Given the description of an element on the screen output the (x, y) to click on. 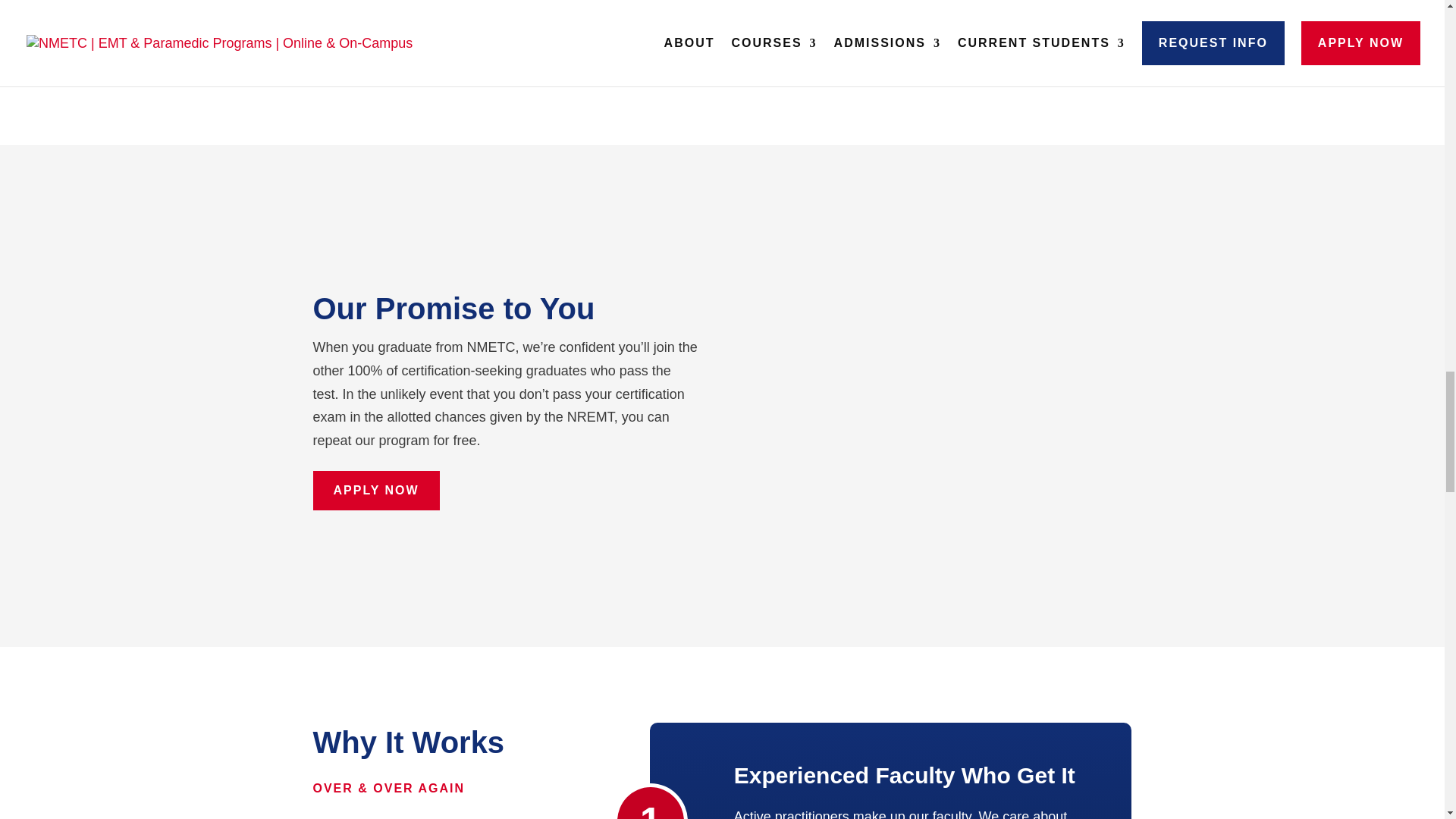
APPLY NOW (376, 489)
EXPLORE PROGRAMS (821, 49)
APPLY NOW (632, 49)
